Given the description of an element on the screen output the (x, y) to click on. 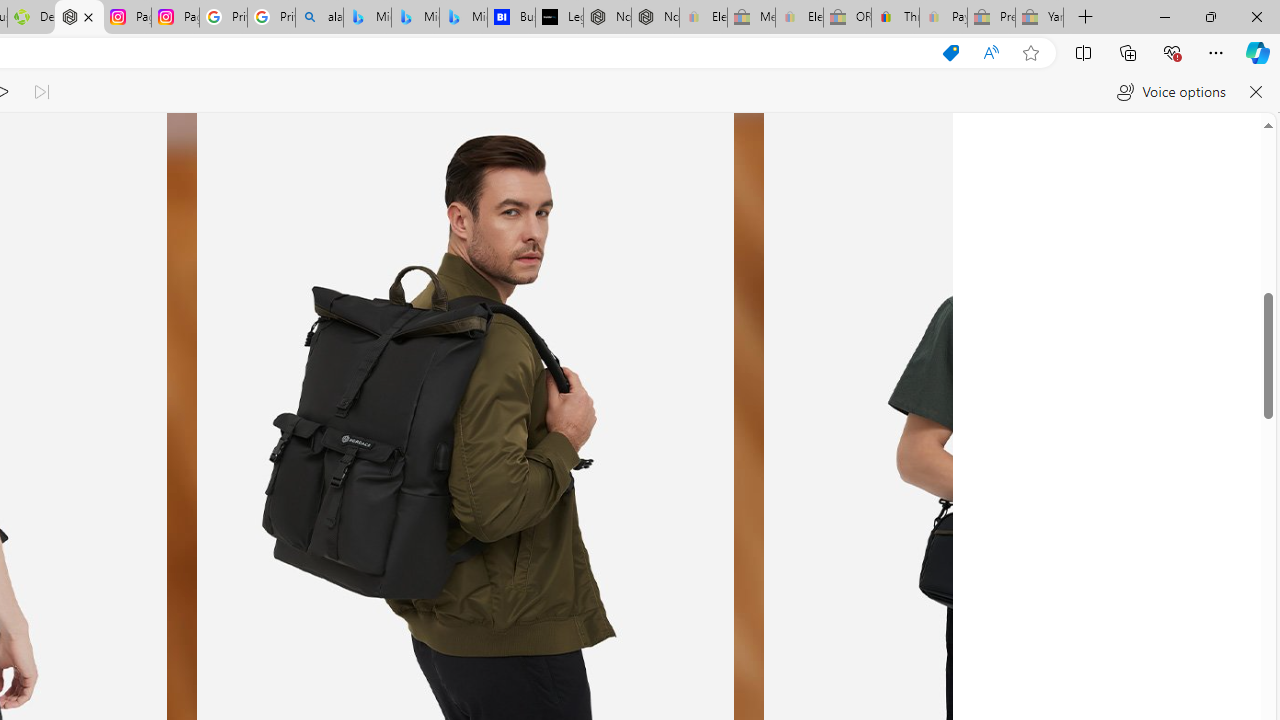
Browser essentials (1171, 52)
Yard, Garden & Outdoor Living - Sleeping (1039, 17)
Add this page to favorites (Ctrl+D) (1030, 53)
Restore (1210, 16)
Microsoft Bing Travel - Shangri-La Hotel Bangkok (463, 17)
Nordace - Nordace Edin Collection (79, 17)
Voice options (1170, 92)
New Tab (1085, 17)
Read next paragraph (40, 92)
Close tab (88, 16)
